Given the description of an element on the screen output the (x, y) to click on. 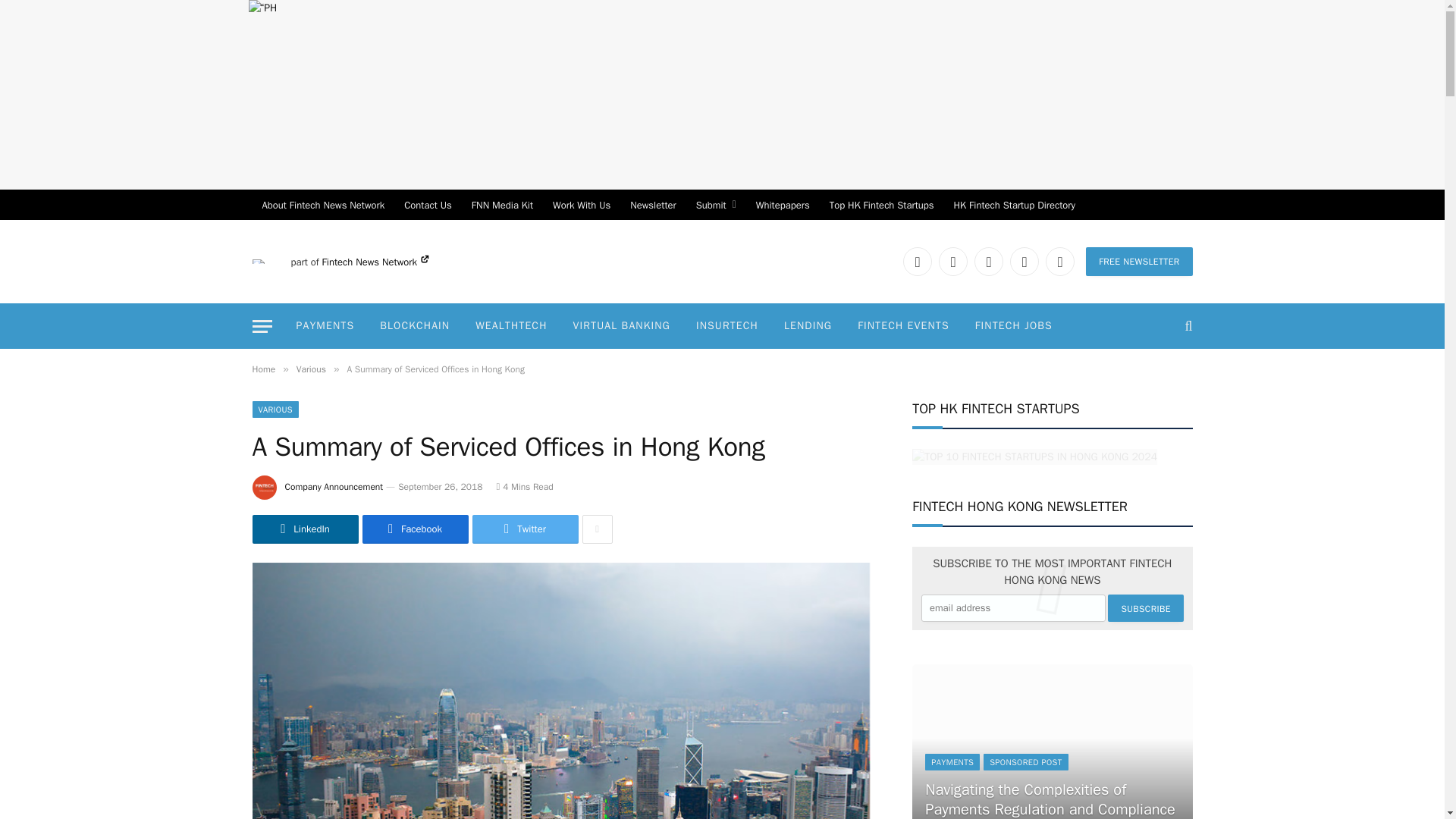
Posts by Company Announcement (334, 486)
Fintech News Network (375, 261)
Whitepapers (782, 204)
Share on Facebook (415, 529)
YouTube (1024, 261)
Show More Social Sharing (597, 529)
Newsletter (652, 204)
About Fintech News Network (322, 204)
LinkedIn (916, 261)
Share on LinkedIn (304, 529)
